Given the description of an element on the screen output the (x, y) to click on. 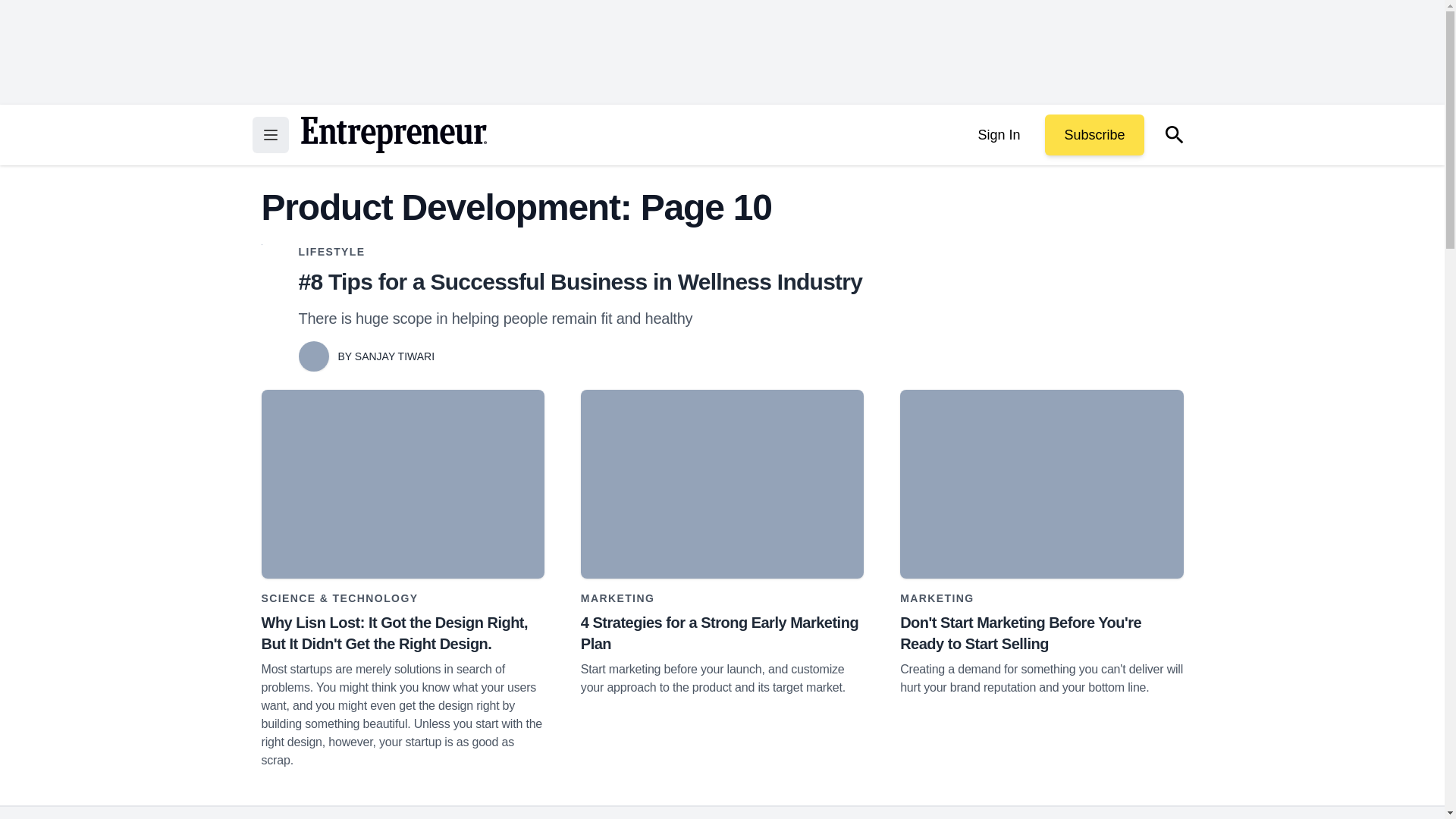
Subscribe (1093, 134)
Return to the home page (392, 135)
Sign In (998, 134)
